Given the description of an element on the screen output the (x, y) to click on. 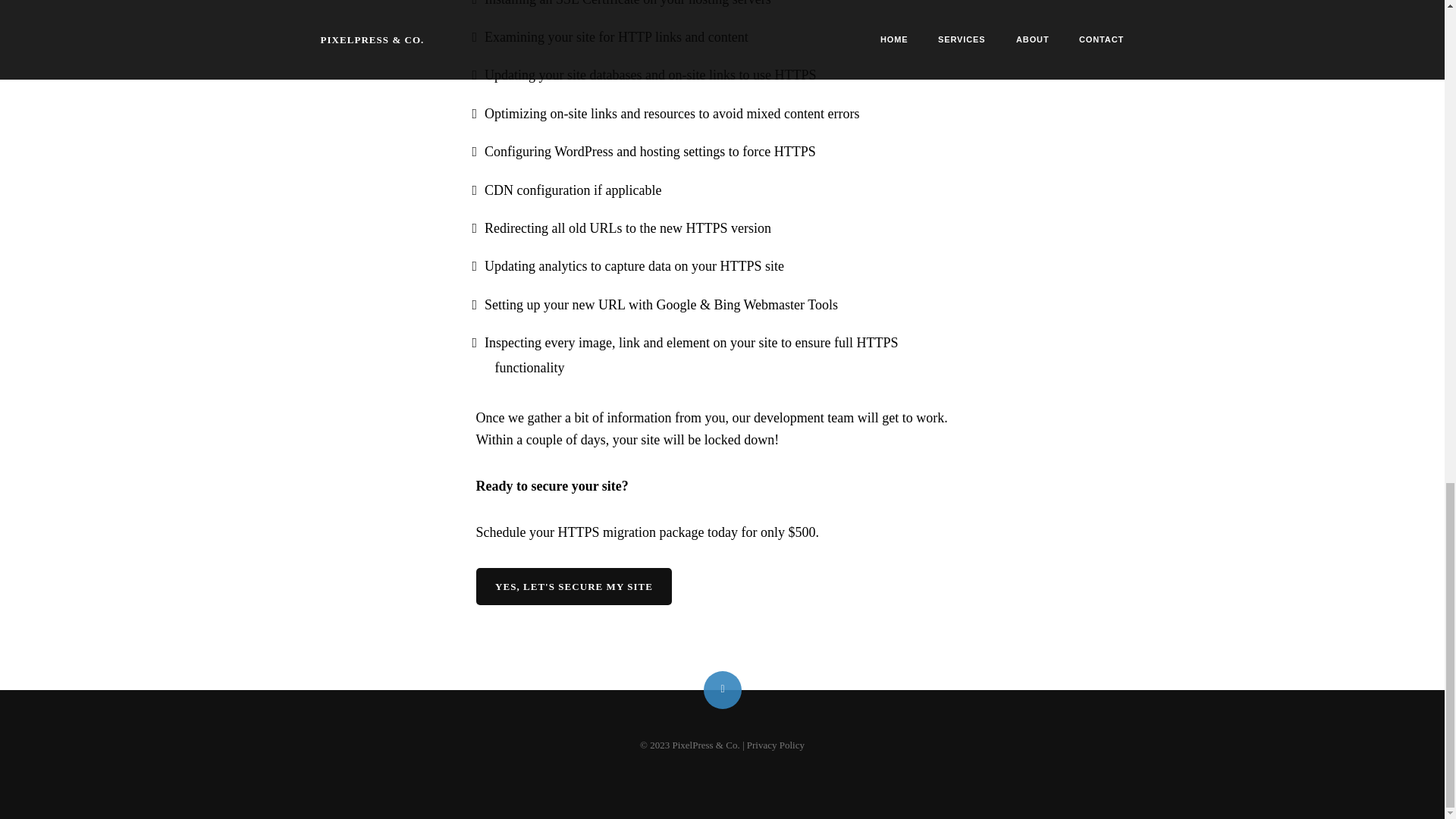
Yes, Let's Secure My Site (573, 586)
Yes, Let's Secure My Site (573, 586)
Privacy Policy (775, 745)
